Given the description of an element on the screen output the (x, y) to click on. 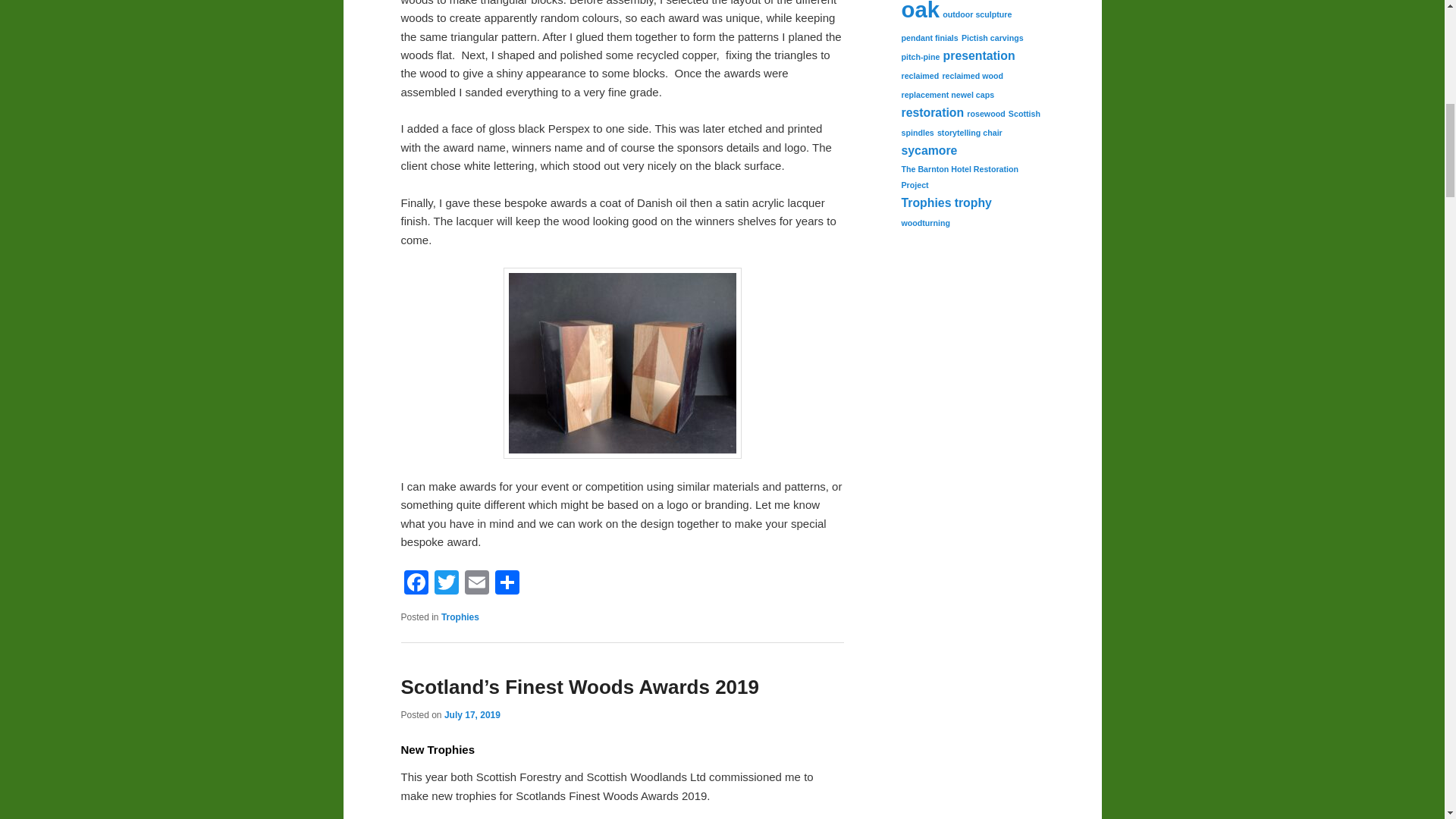
Twitter (445, 584)
Facebook (415, 584)
Email (476, 584)
Facebook (415, 584)
Trophies (460, 616)
July 17, 2019 (472, 715)
Email (476, 584)
Share (506, 584)
Twitter (445, 584)
